Given the description of an element on the screen output the (x, y) to click on. 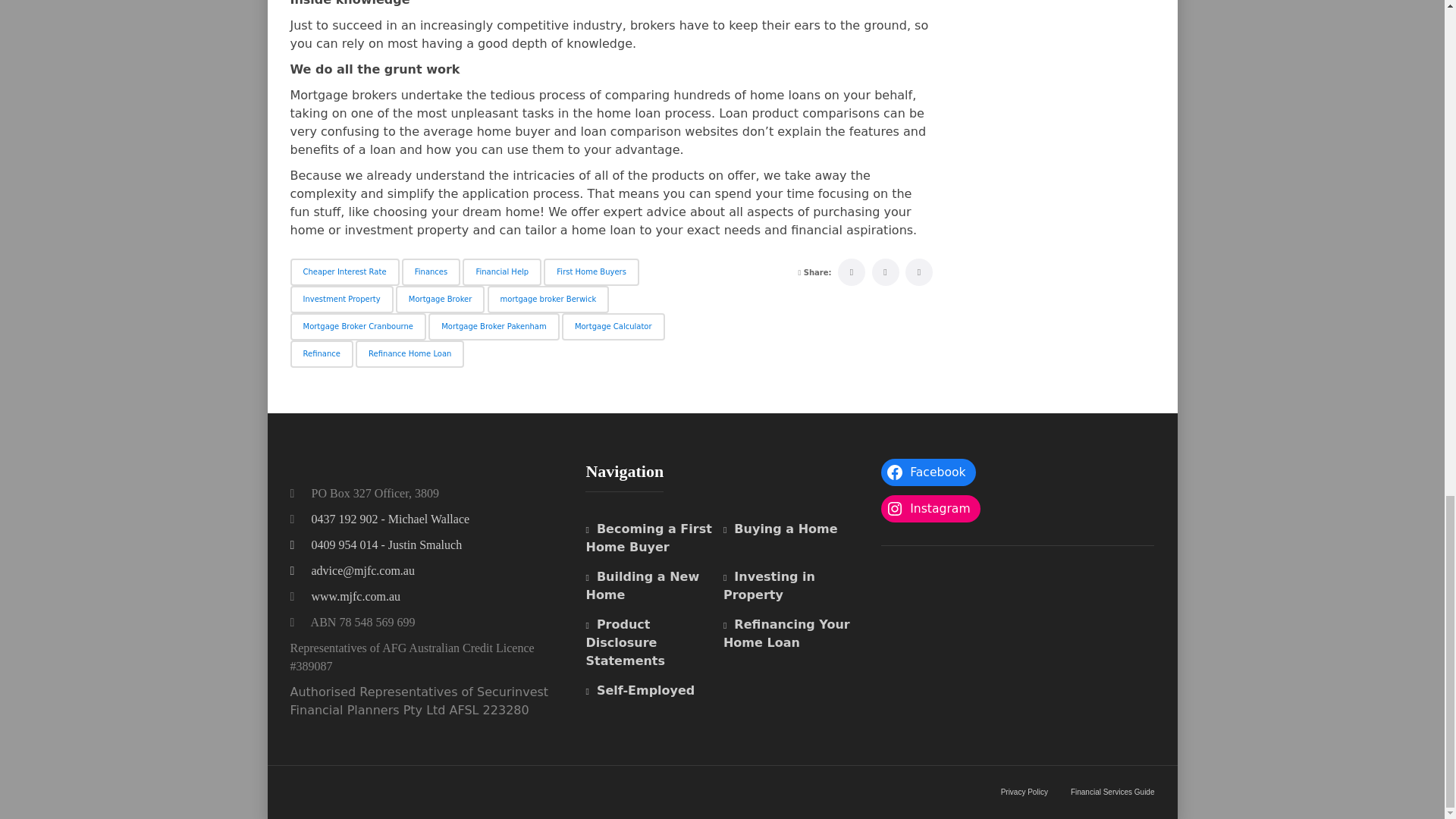
mortgage broker Berwick (548, 298)
Mortgage Broker (440, 298)
Mortgage Calculator (613, 326)
Mortgage Broker Pakenham (493, 326)
Financial Help (502, 271)
Cheaper Interest Rate (343, 271)
First Home Buyers (591, 271)
Finances (430, 271)
Mortgage Broker Cranbourne (357, 326)
Investment Property (341, 298)
